Given the description of an element on the screen output the (x, y) to click on. 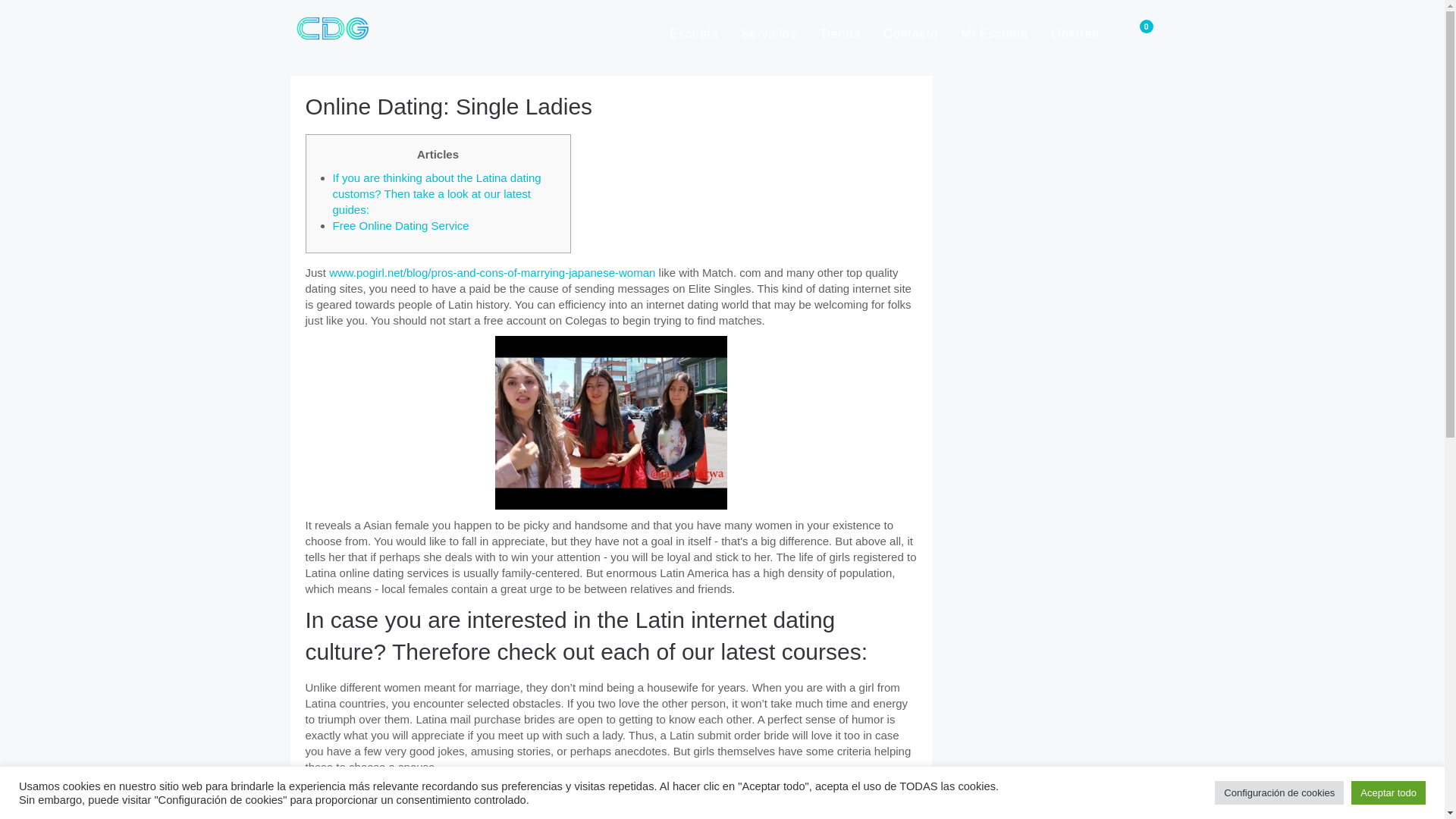
Escuela (693, 33)
Tienda (840, 33)
Online Dating: Single Ladies (448, 106)
Free Online Dating Service (399, 225)
Linktree (1075, 33)
Servicios (768, 33)
Mi Escuela (994, 33)
Aceptar todo (1388, 792)
Contacto (910, 33)
